Given the description of an element on the screen output the (x, y) to click on. 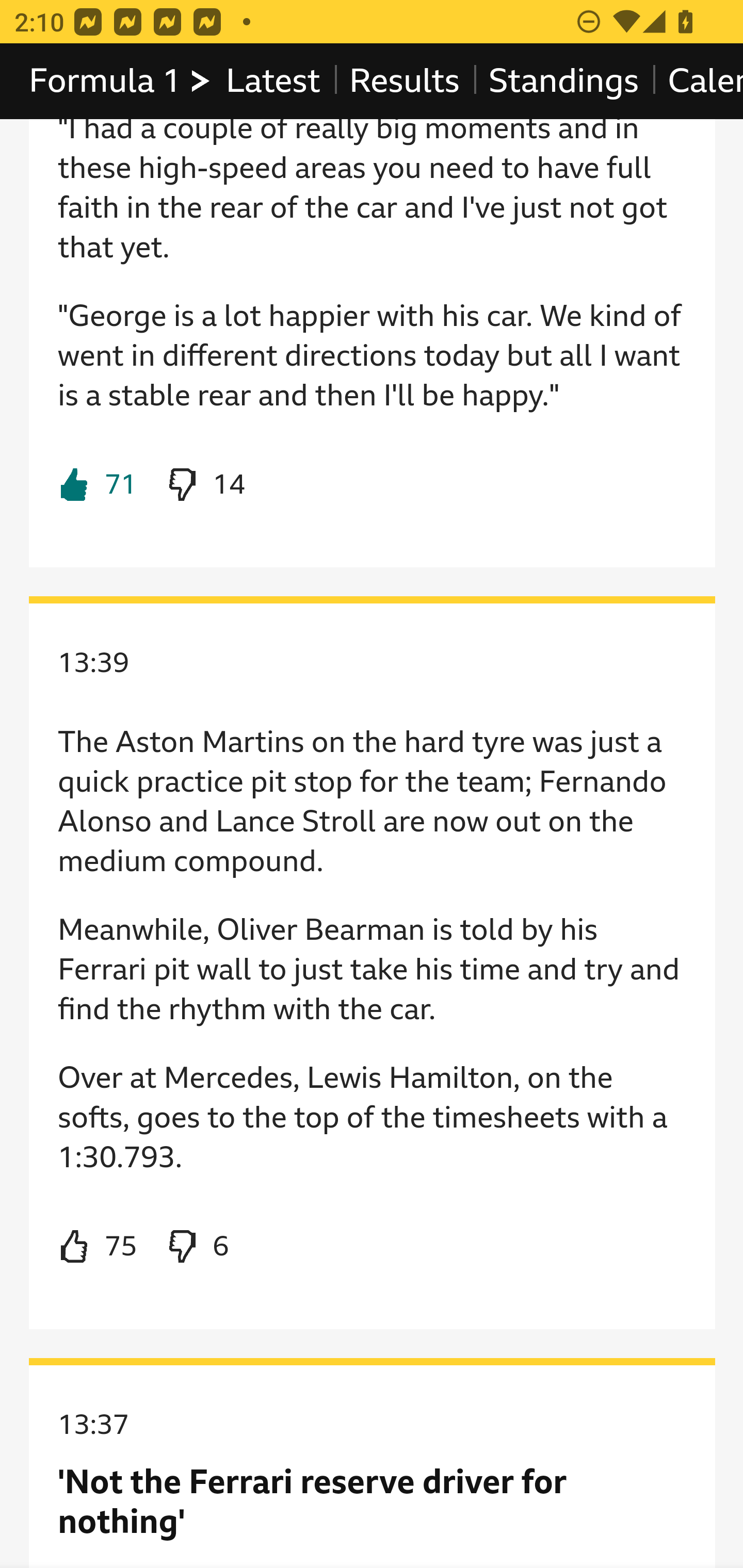
Liked (97, 484)
Dislike (204, 484)
Like (97, 1246)
Dislike (196, 1246)
